Given the description of an element on the screen output the (x, y) to click on. 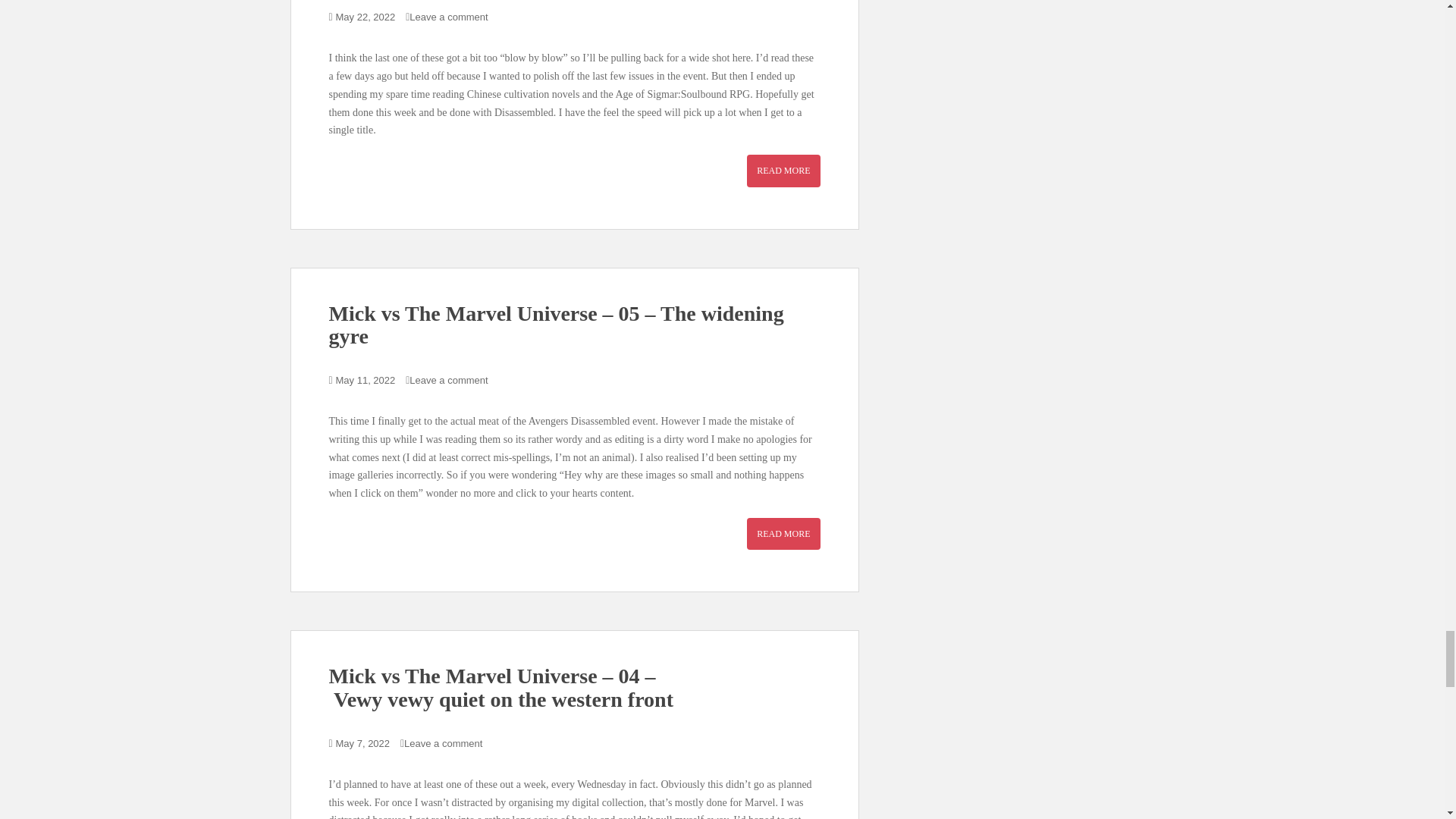
READ MORE (782, 170)
May 7, 2022 (363, 743)
May 11, 2022 (366, 379)
READ MORE (782, 533)
Leave a comment (442, 743)
Leave a comment (448, 16)
May 22, 2022 (366, 16)
Leave a comment (448, 379)
